Given the description of an element on the screen output the (x, y) to click on. 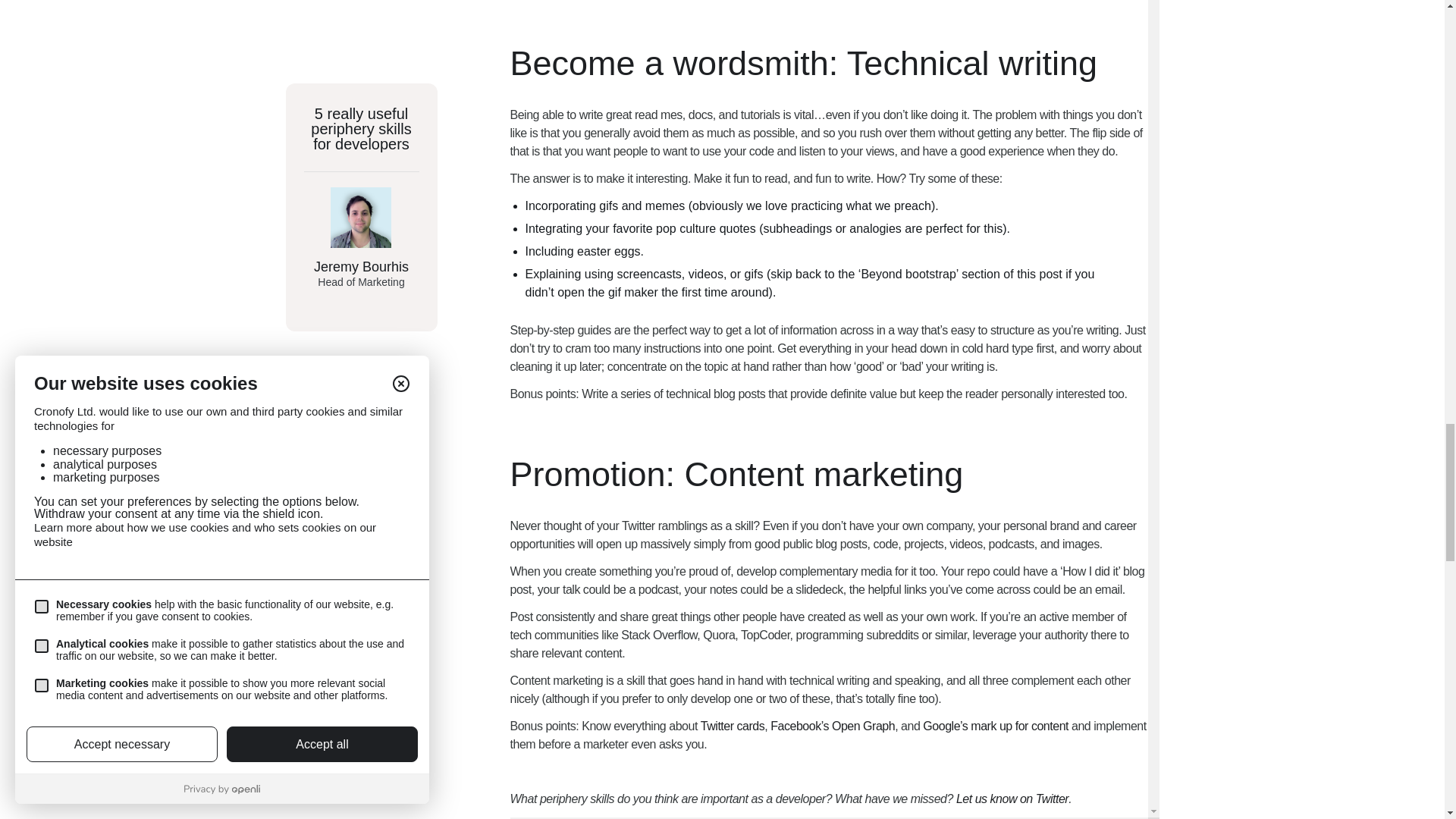
Twitter cards (732, 725)
Let us know on Twitter (1012, 798)
